Given the description of an element on the screen output the (x, y) to click on. 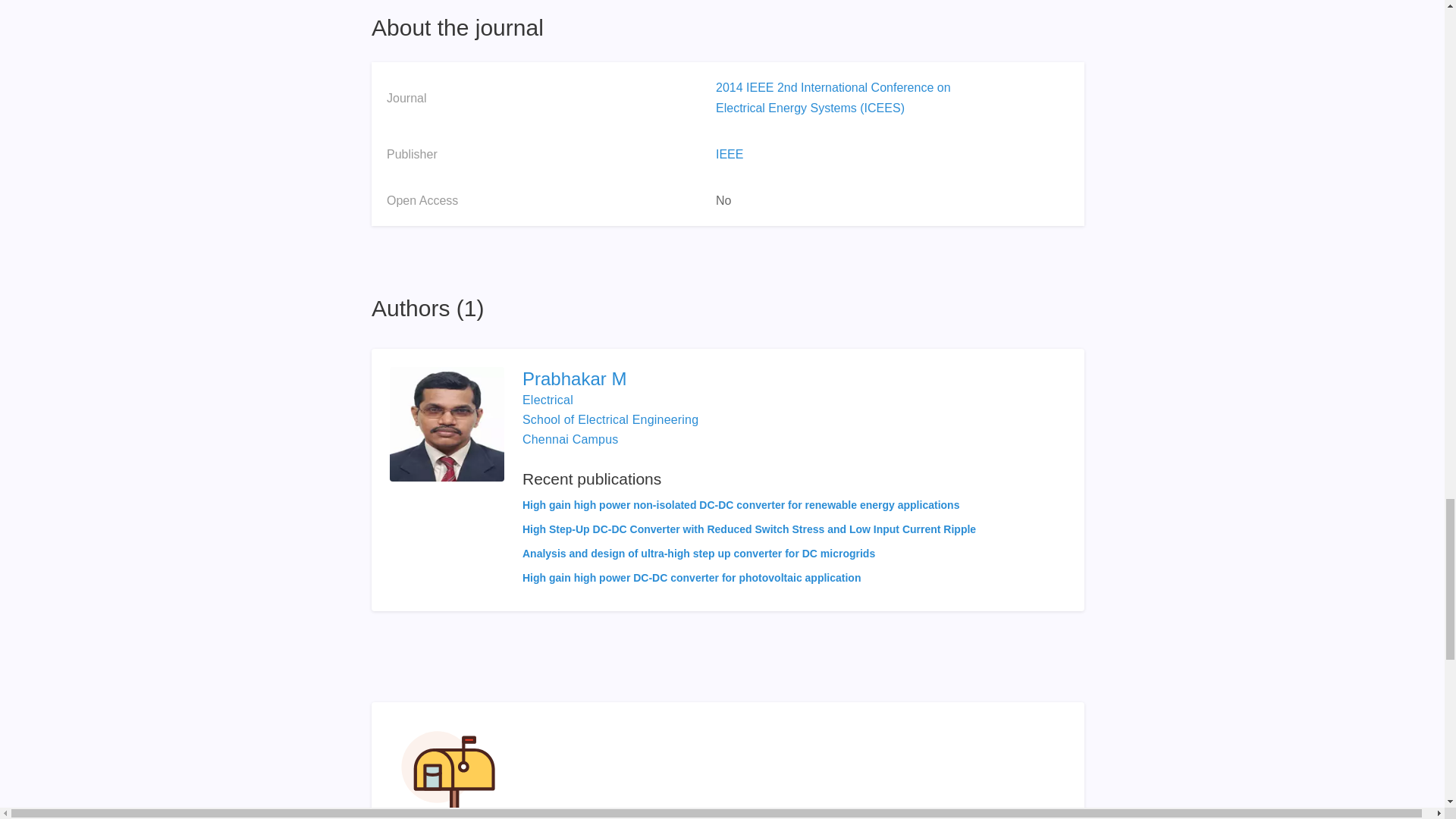
School of Electrical Engineering (610, 419)
Subscribe form hero illustration (448, 769)
Electrical (547, 399)
IEEE (729, 154)
Chennai Campus (569, 439)
Prabhakar M (748, 378)
